Given the description of an element on the screen output the (x, y) to click on. 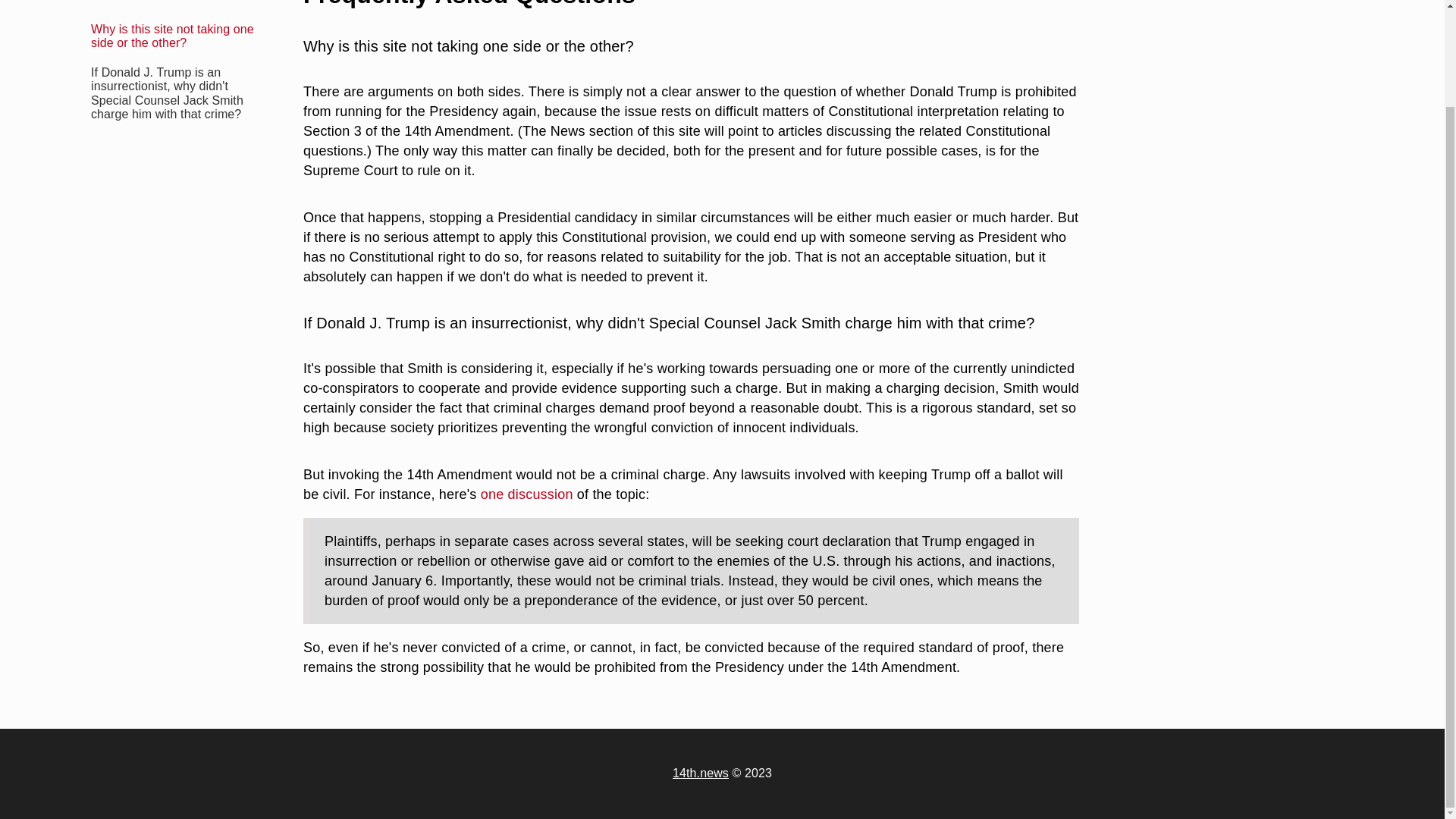
14th.news (700, 772)
Why is this site not taking one side or the other? (171, 9)
one discussion (526, 494)
